Given the description of an element on the screen output the (x, y) to click on. 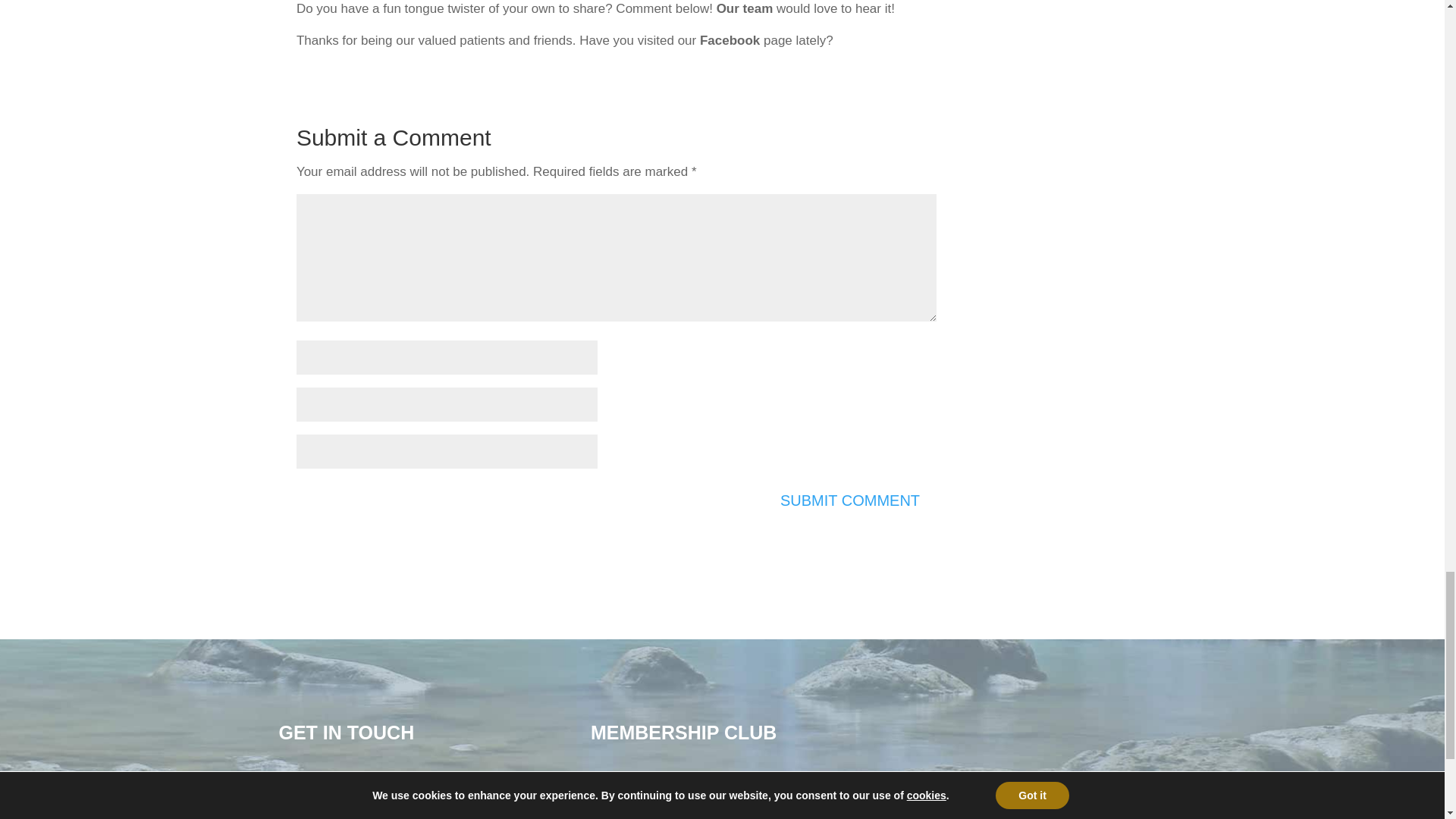
Submit Comment (849, 500)
Submit Comment (849, 500)
